Given the description of an element on the screen output the (x, y) to click on. 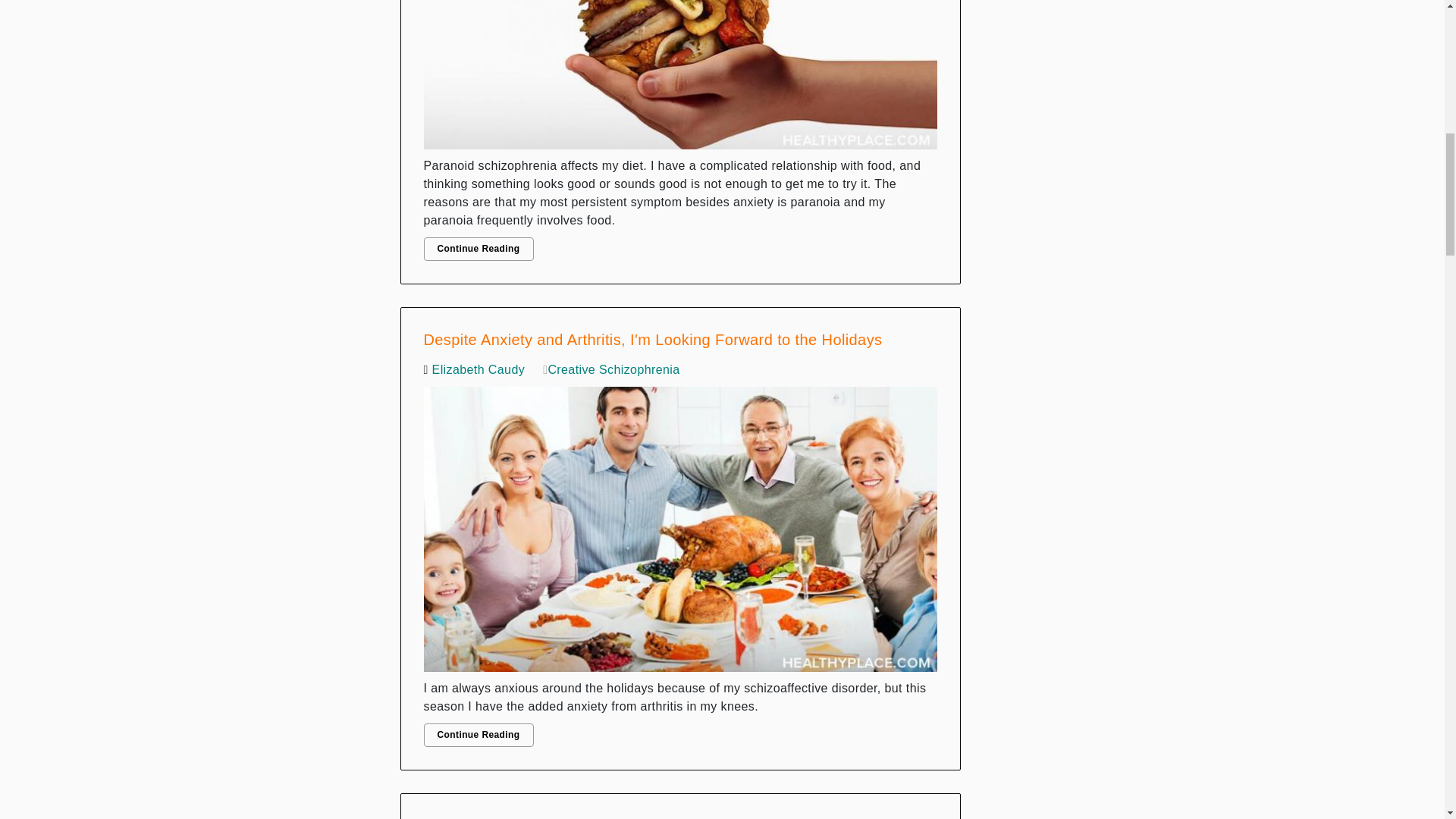
How Schizophrenia Impacts My Diet (680, 78)
